Given the description of an element on the screen output the (x, y) to click on. 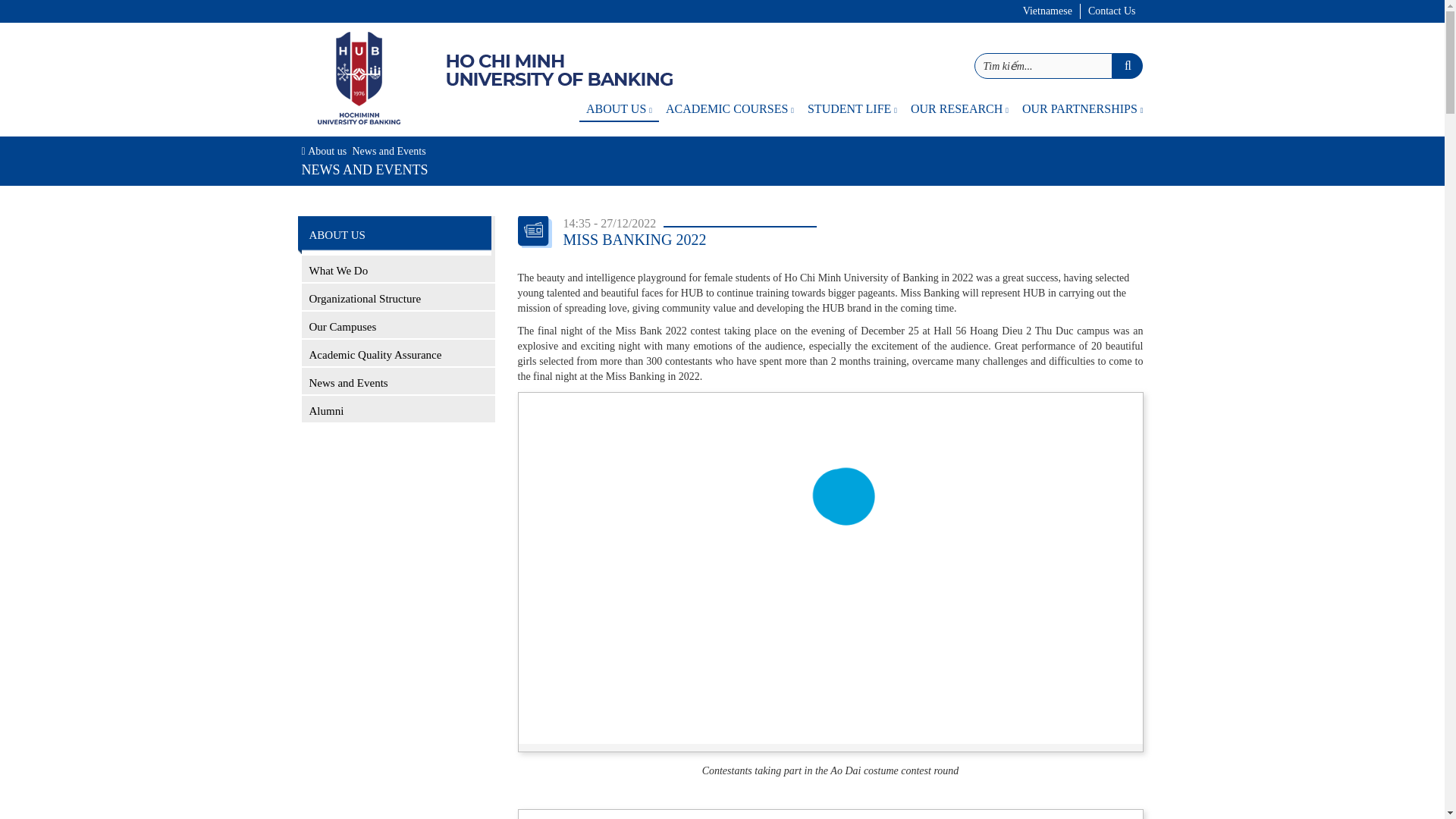
search (1127, 65)
BUH EN (357, 78)
STUDENT LIFE (852, 109)
Contact Us (1111, 11)
ACADEMIC COURSES (729, 109)
Vietnamese (1047, 11)
ABOUT US (619, 109)
MISS BANKING 2022 (830, 566)
